Given the description of an element on the screen output the (x, y) to click on. 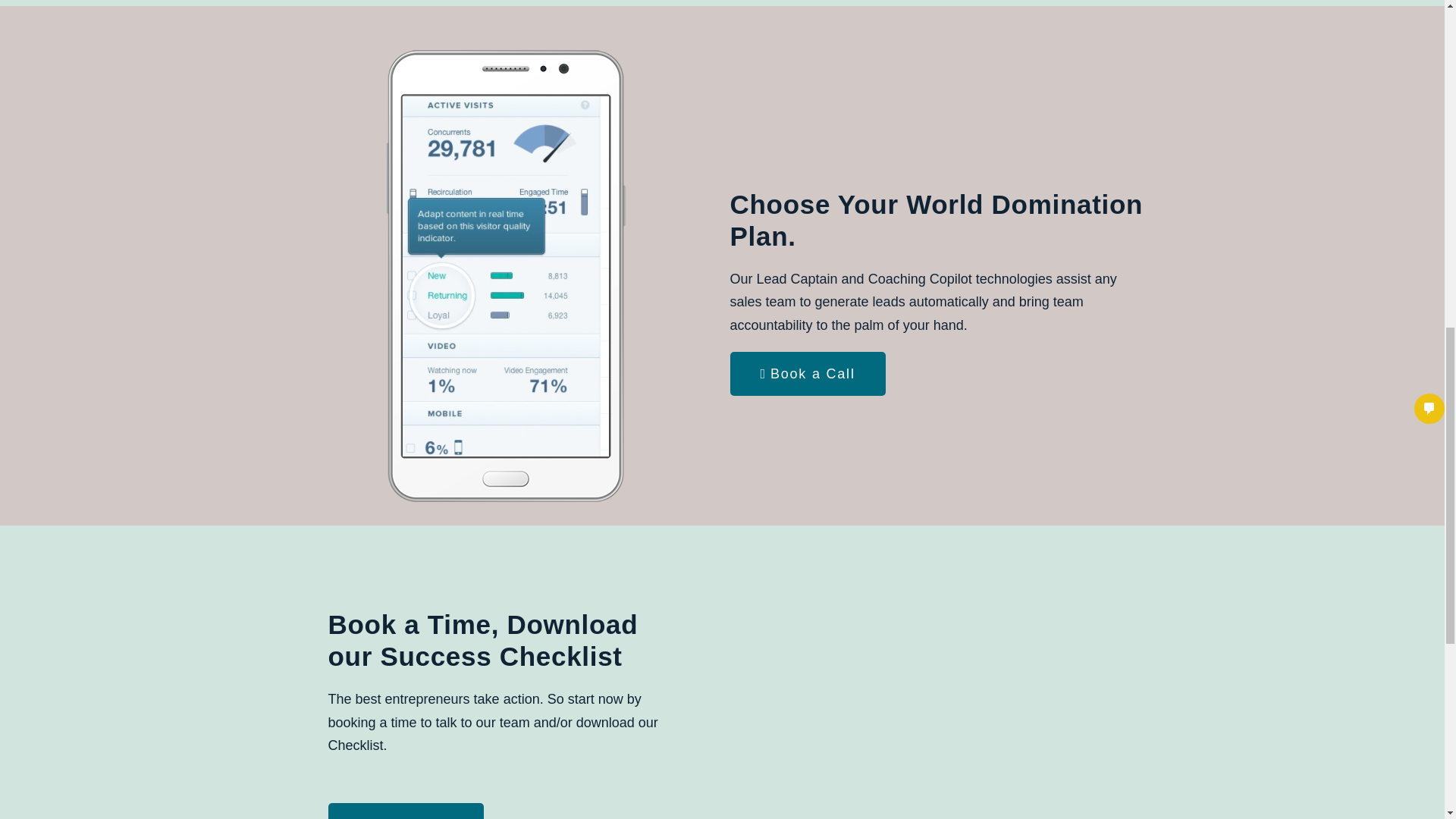
Book a Call (807, 373)
Book a Call (405, 811)
